Given the description of an element on the screen output the (x, y) to click on. 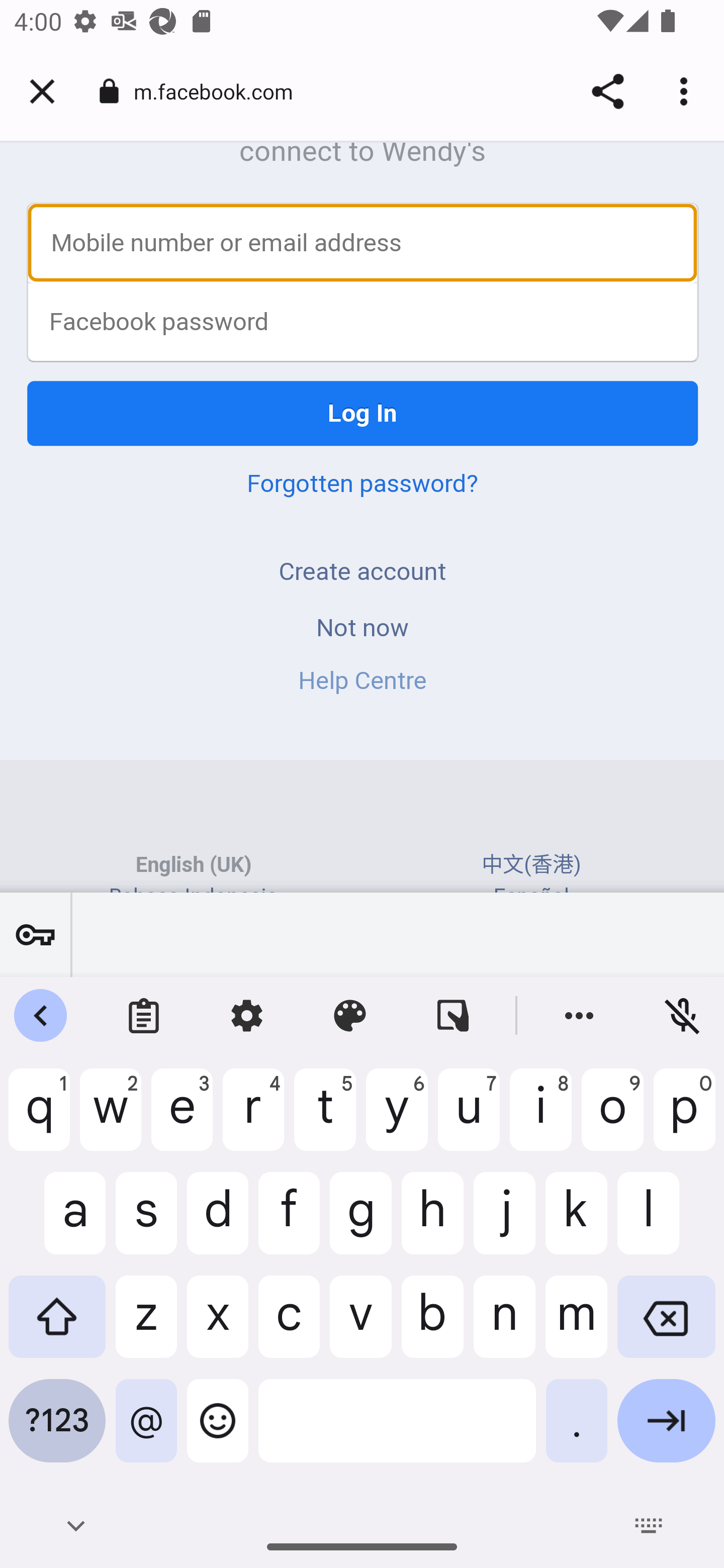
Close tab (42, 91)
Share (607, 91)
More options (687, 91)
Connection is secure (108, 91)
m.facebook.com (219, 90)
Log In (363, 412)
Forgotten password? (362, 483)
Create account (362, 571)
Not now (361, 627)
Help Centre (361, 680)
中文(香港) (531, 864)
Show passwords (35, 934)
